Given the description of an element on the screen output the (x, y) to click on. 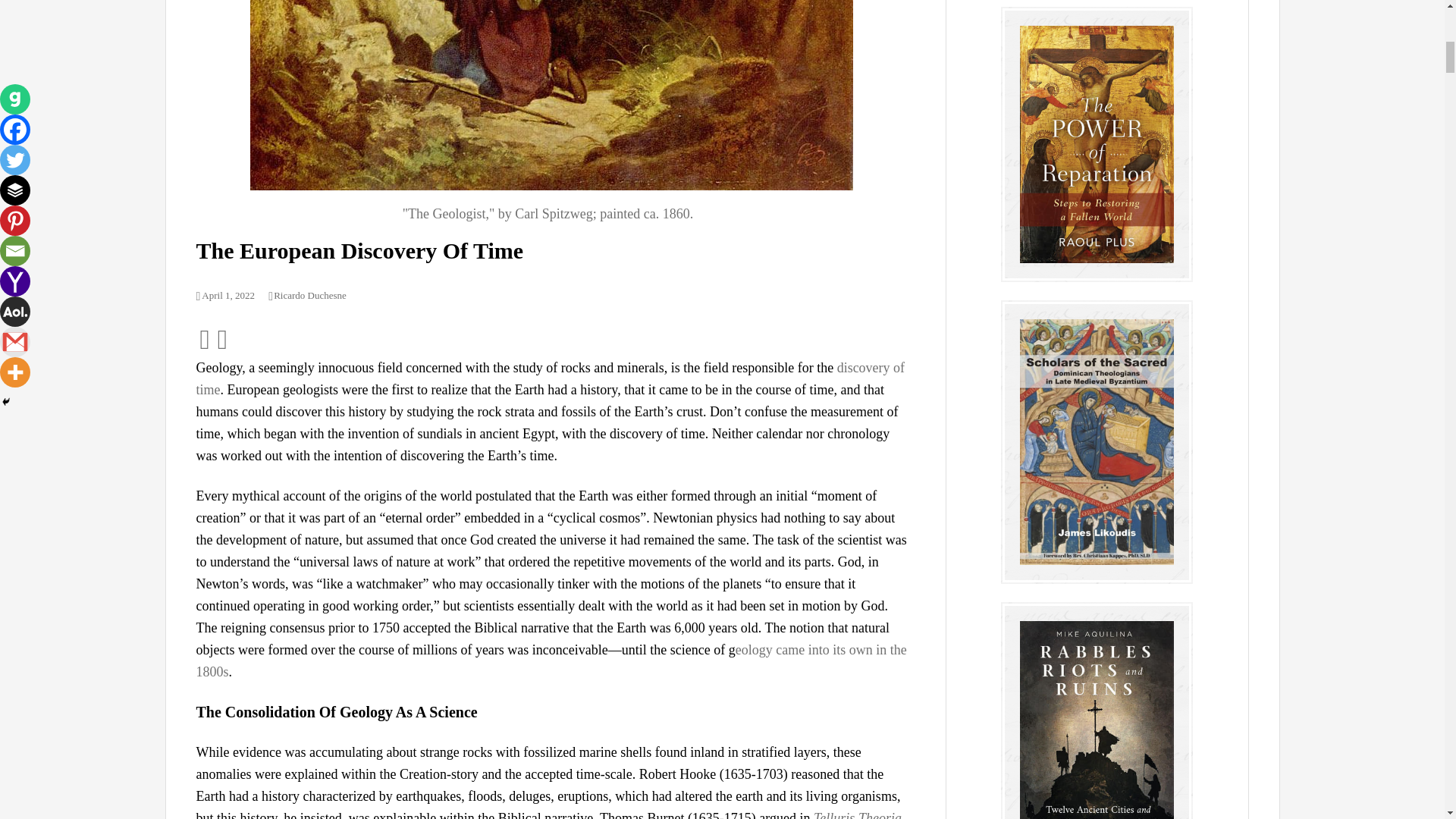
View all posts by Ricardo Duchesne (306, 295)
Ricardo Duchesne (306, 295)
April 1, 2022 (224, 295)
Telluris Theoria Sacra (548, 814)
eology came into its own in the 1800s (550, 660)
12:00 am (224, 295)
discovery of time (549, 378)
